Given the description of an element on the screen output the (x, y) to click on. 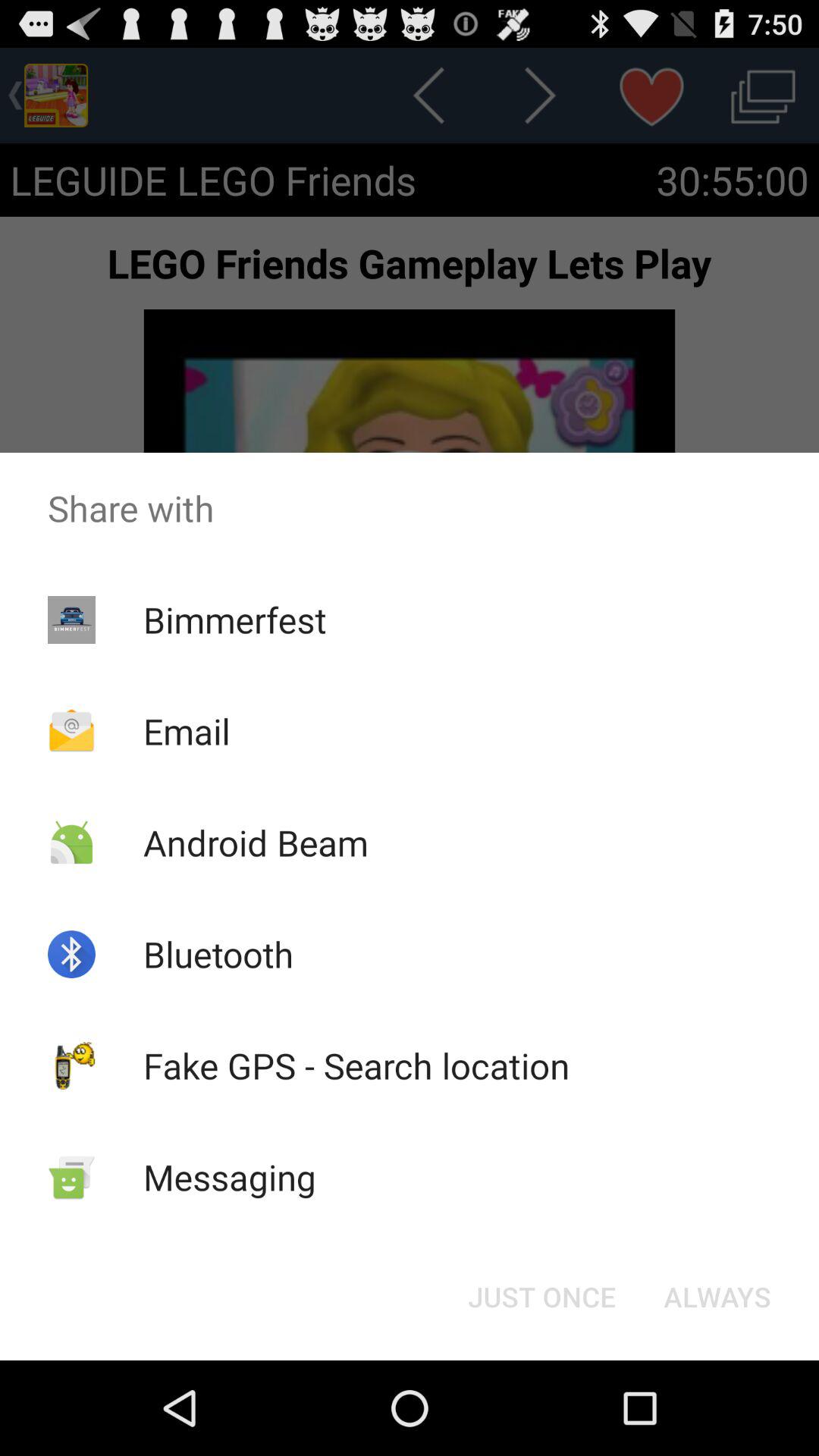
jump until the messaging item (229, 1176)
